Given the description of an element on the screen output the (x, y) to click on. 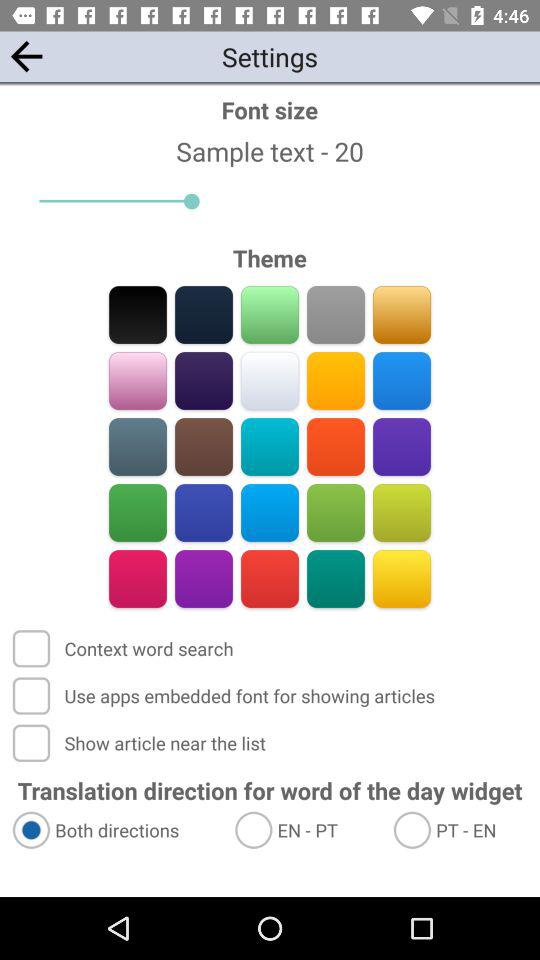
go to theme (203, 380)
